Given the description of an element on the screen output the (x, y) to click on. 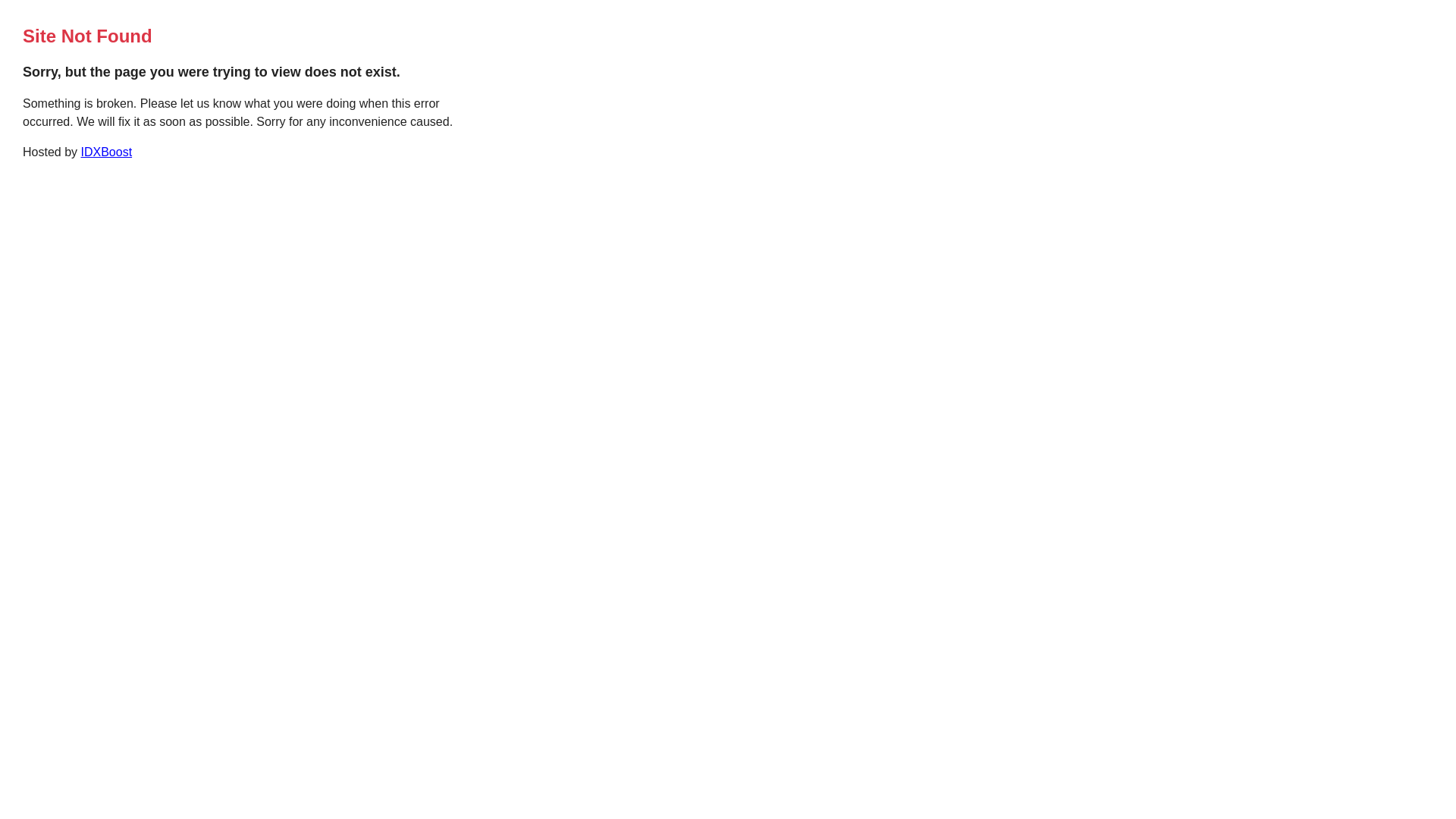
IDXBoost Element type: text (105, 151)
